Given the description of an element on the screen output the (x, y) to click on. 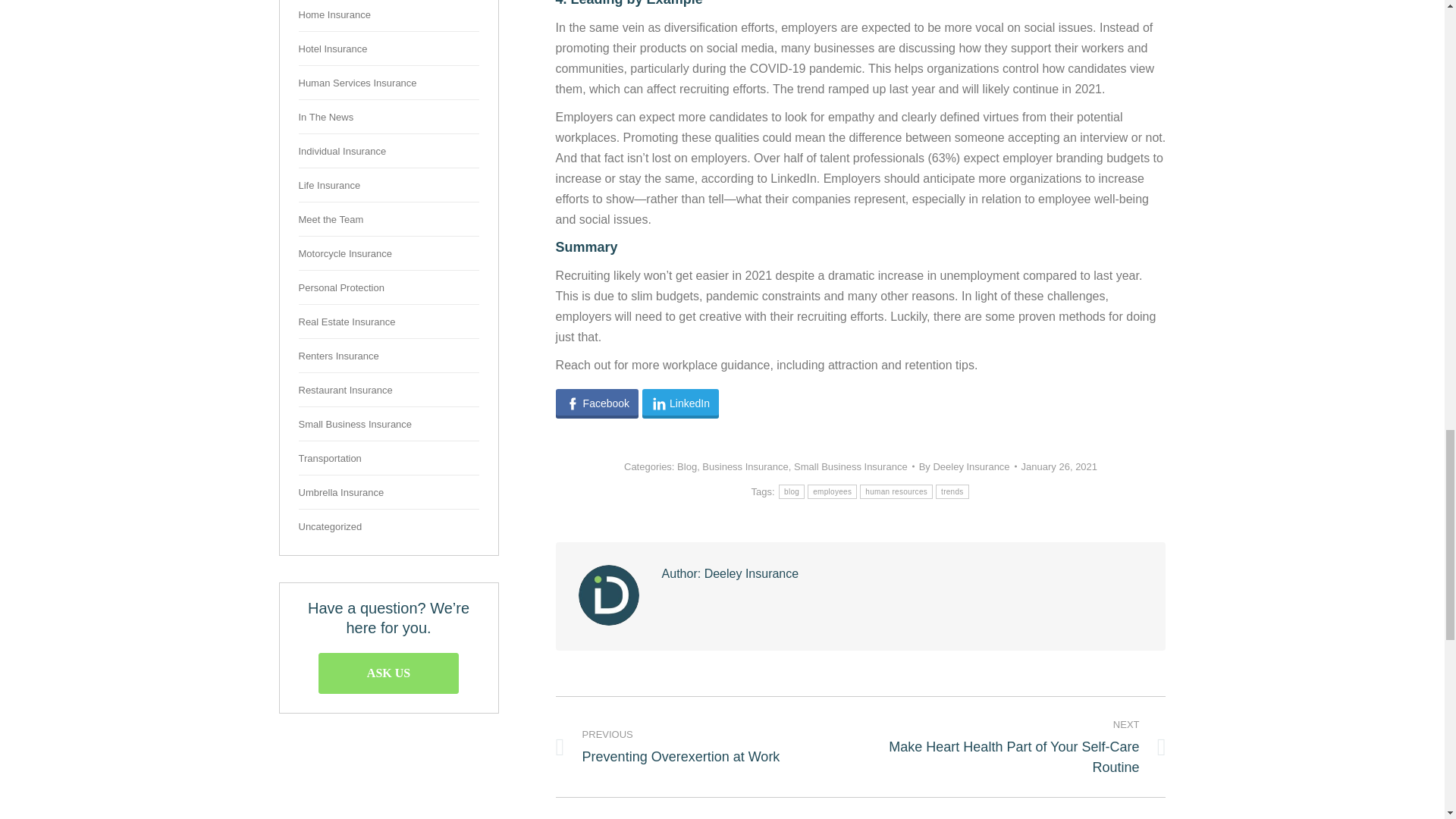
8:27 pm (1059, 466)
View all posts by Deeley Insurance (967, 466)
